Given the description of an element on the screen output the (x, y) to click on. 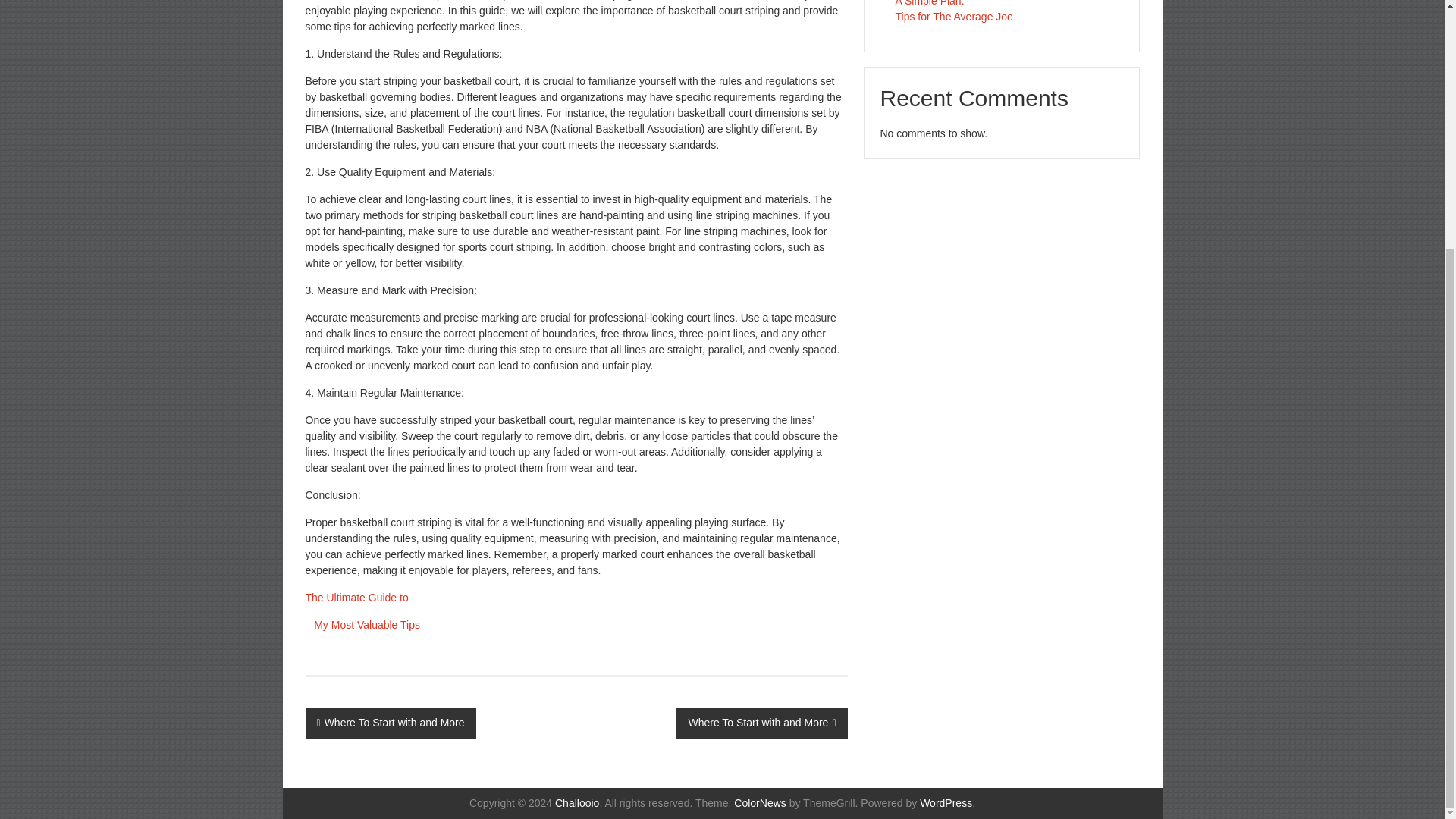
WordPress (946, 802)
Where To Start with and More (390, 722)
A Simple Plan: (929, 3)
Challooio (576, 802)
ColorNews (759, 802)
Where To Start with and More (762, 722)
WordPress (946, 802)
The Ultimate Guide to (355, 597)
Tips for The Average Joe (953, 16)
Challooio (576, 802)
